Given the description of an element on the screen output the (x, y) to click on. 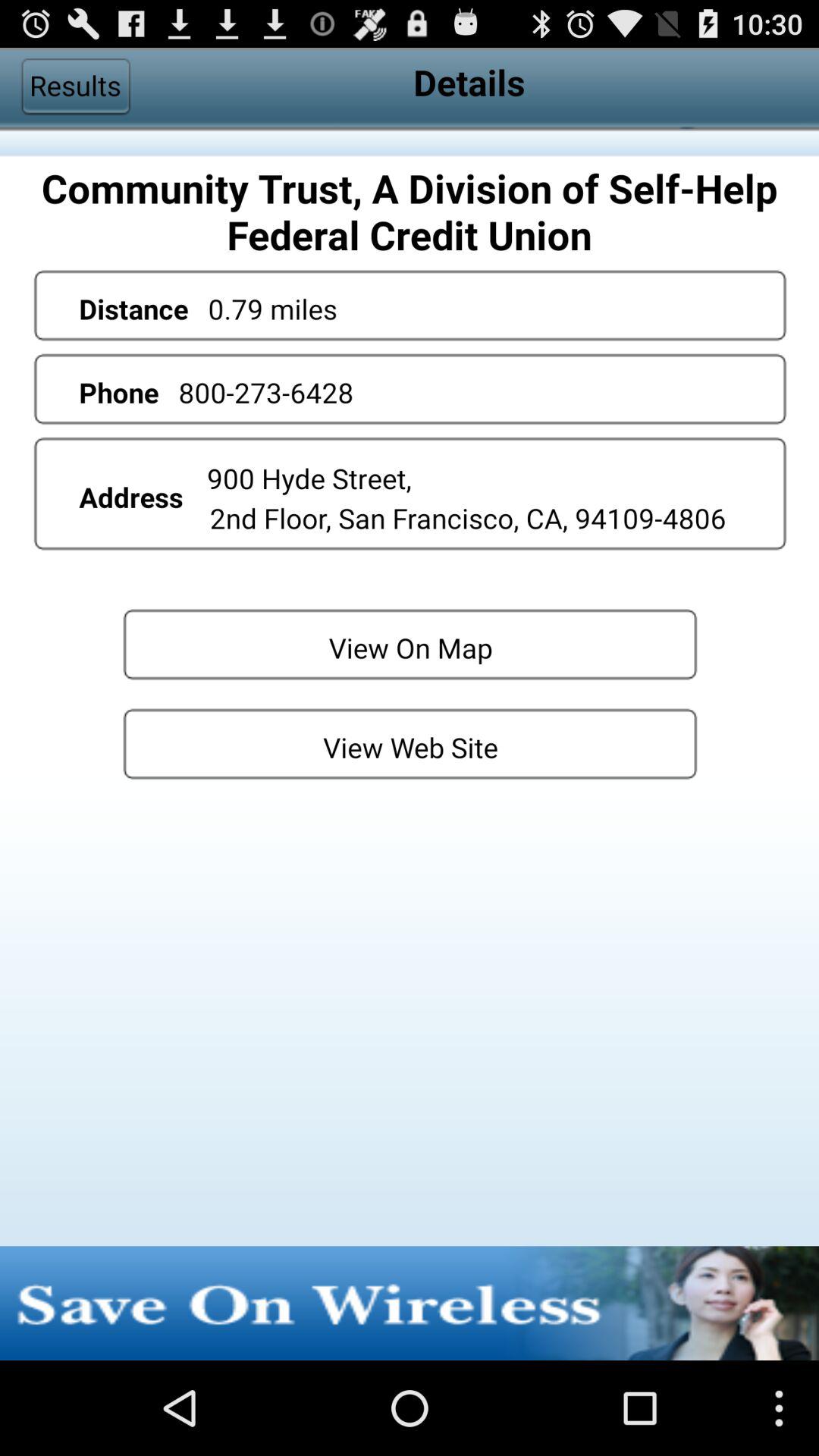
click the button below the view on map button (409, 743)
